Given the description of an element on the screen output the (x, y) to click on. 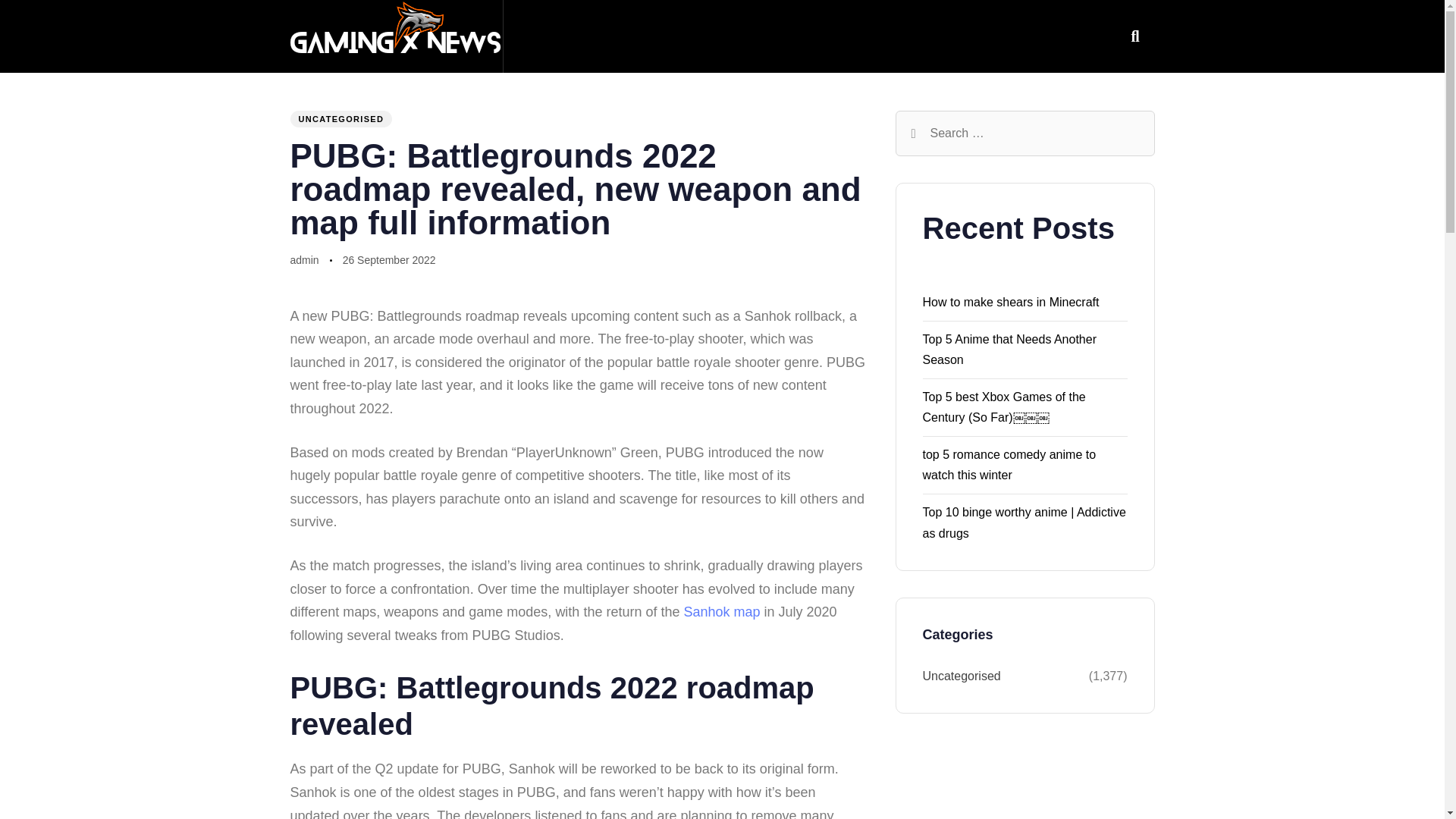
admin (303, 259)
26 September 2022 (388, 260)
Top 5 Anime that Needs Another Season (1008, 349)
top 5 romance comedy anime to watch this winter (1008, 464)
How to make shears in Minecraft (1010, 301)
Sanhok map (721, 611)
Posts by admin (303, 259)
Uncategorised (1004, 675)
UNCATEGORISED (340, 118)
